Given the description of an element on the screen output the (x, y) to click on. 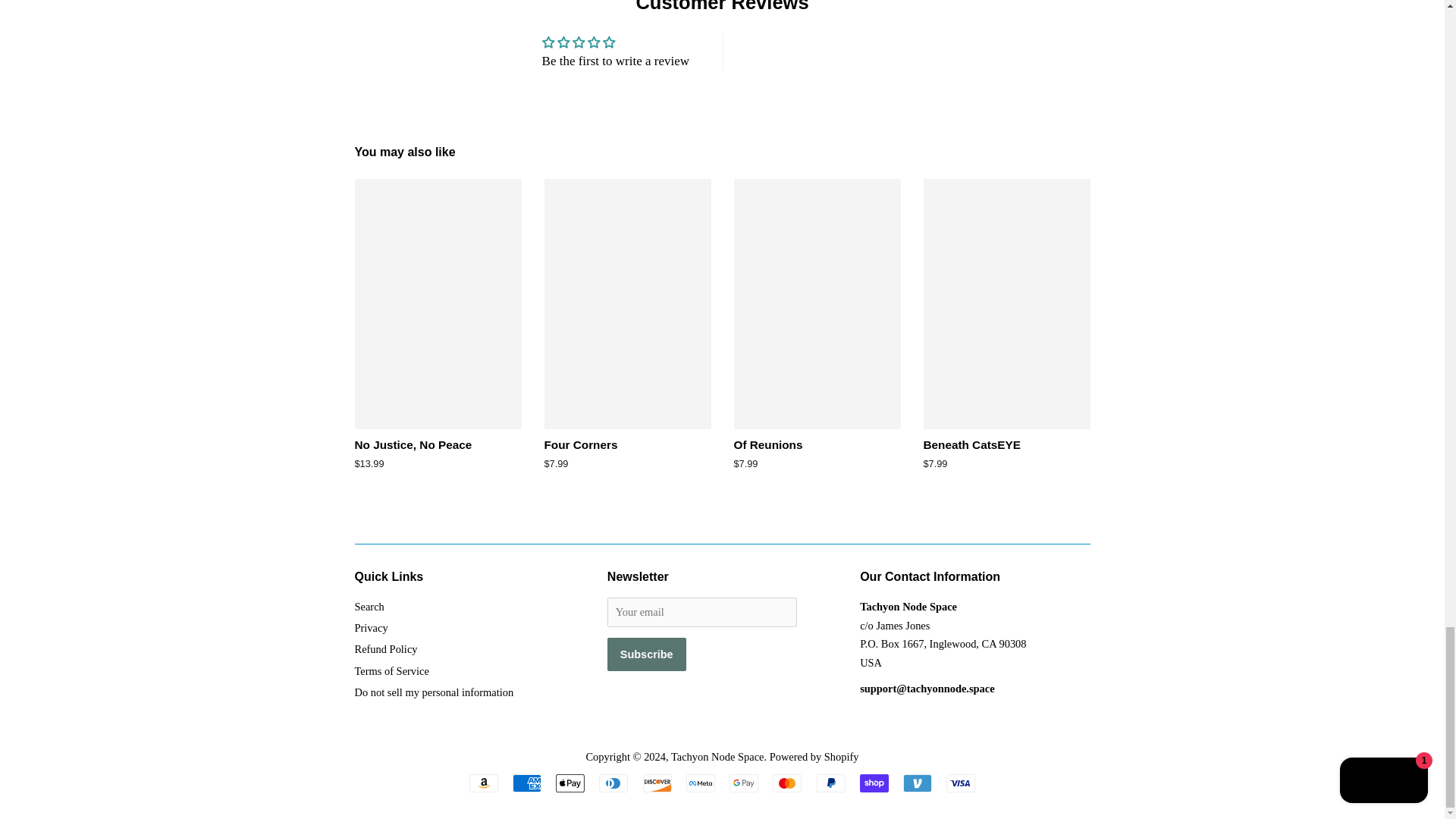
Refund Policy (386, 648)
Mastercard (787, 782)
Privacy (371, 627)
Meta Pay (699, 782)
Diners Club (612, 782)
PayPal (830, 782)
Search (369, 606)
Tachyon Node Space (716, 756)
Powered by Shopify (814, 756)
Terms of Service (392, 671)
Amazon (482, 782)
Discover (657, 782)
Apple Pay (570, 782)
Visa (960, 782)
Google Pay (743, 782)
